Given the description of an element on the screen output the (x, y) to click on. 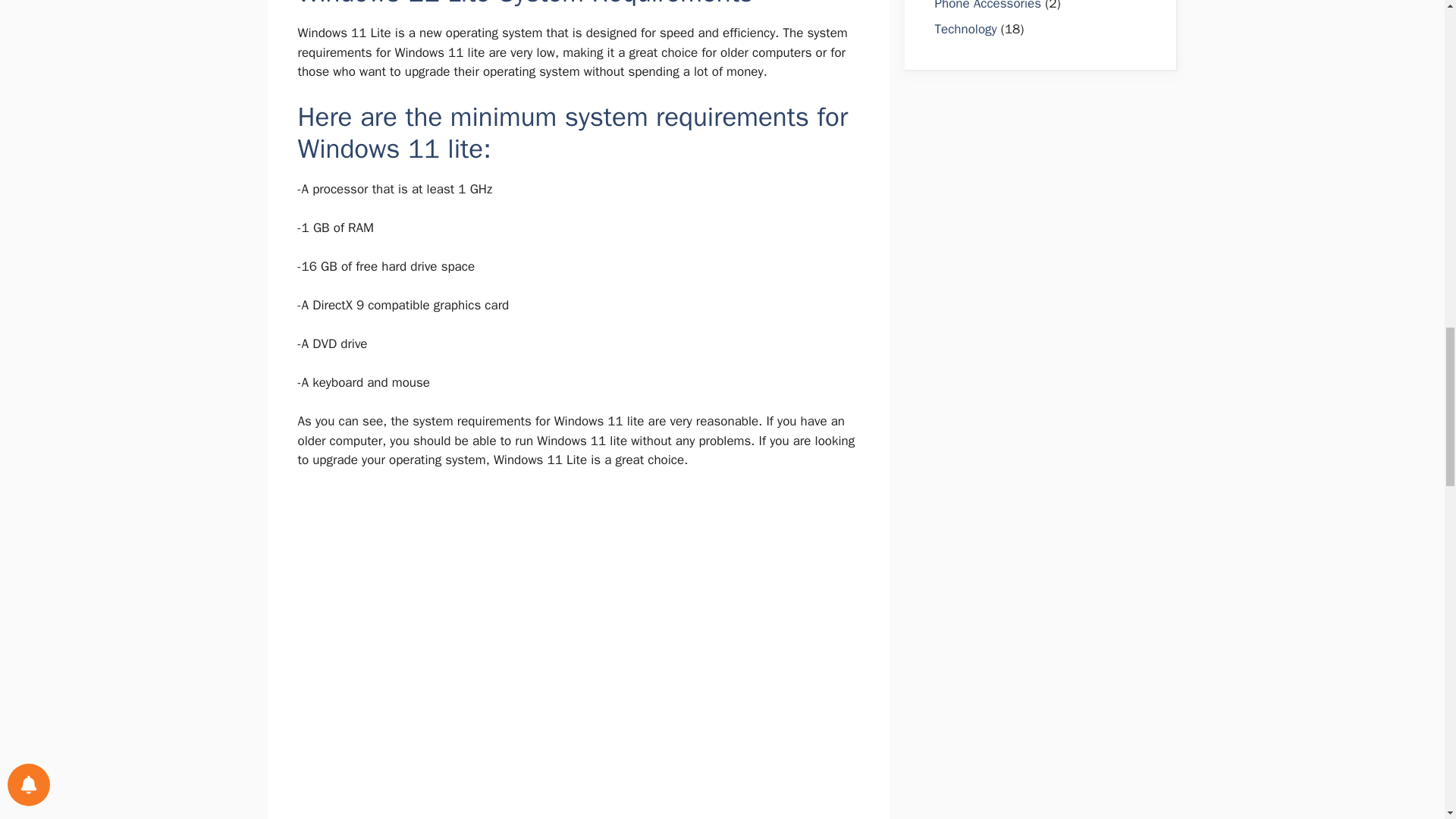
Phone Accessories (987, 5)
Technology (964, 28)
